Given the description of an element on the screen output the (x, y) to click on. 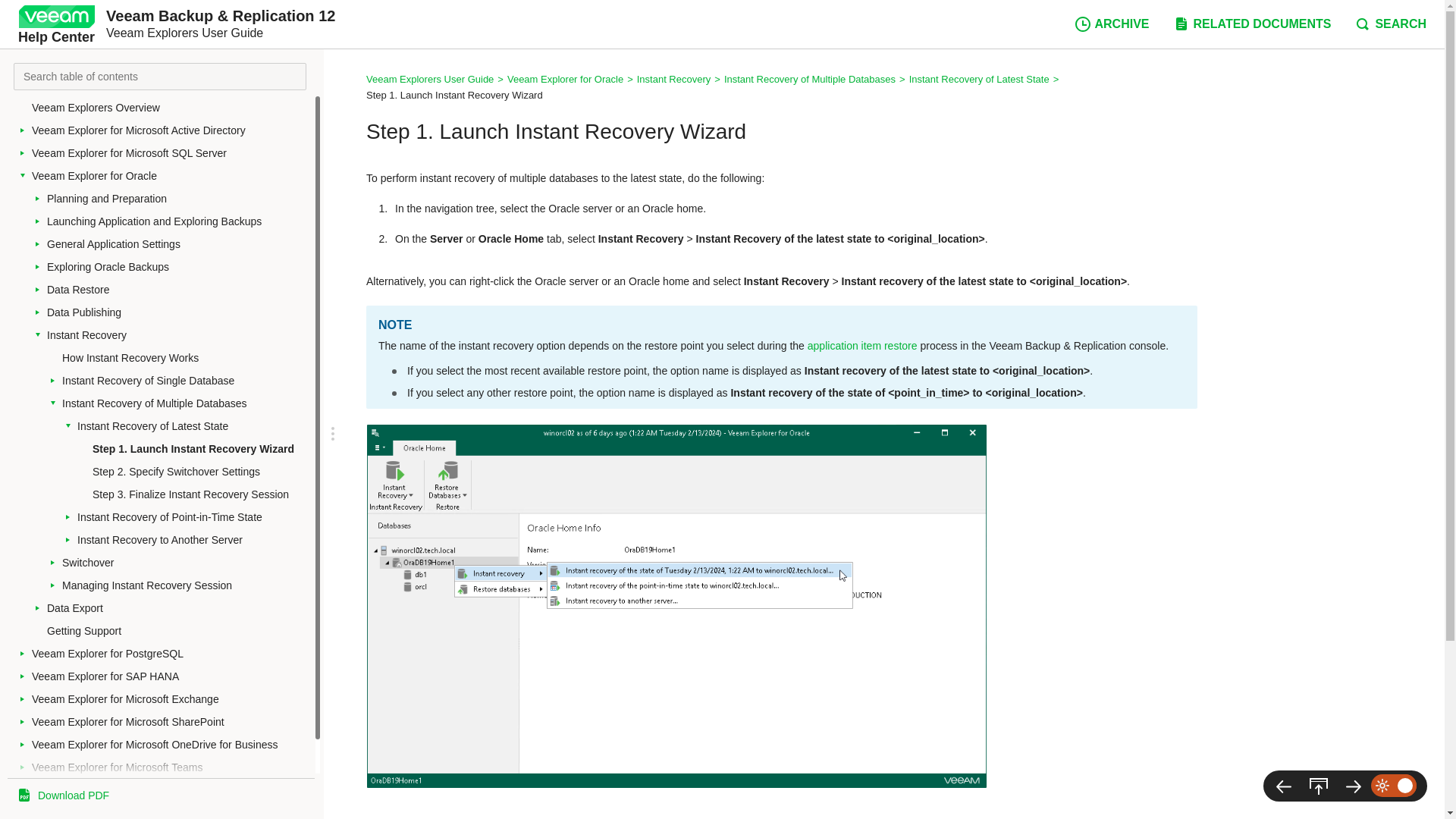
SEARCH (1390, 24)
RELATED DOCUMENTS (1252, 24)
Veeam Explorer for Microsoft Active Directory (171, 129)
Veeam Explorer for Microsoft Active Directory (171, 129)
Veeam Explorers Overview (171, 107)
Help Center (55, 23)
ARCHIVE (1112, 24)
Veeam Explorers Overview (171, 107)
